Given the description of an element on the screen output the (x, y) to click on. 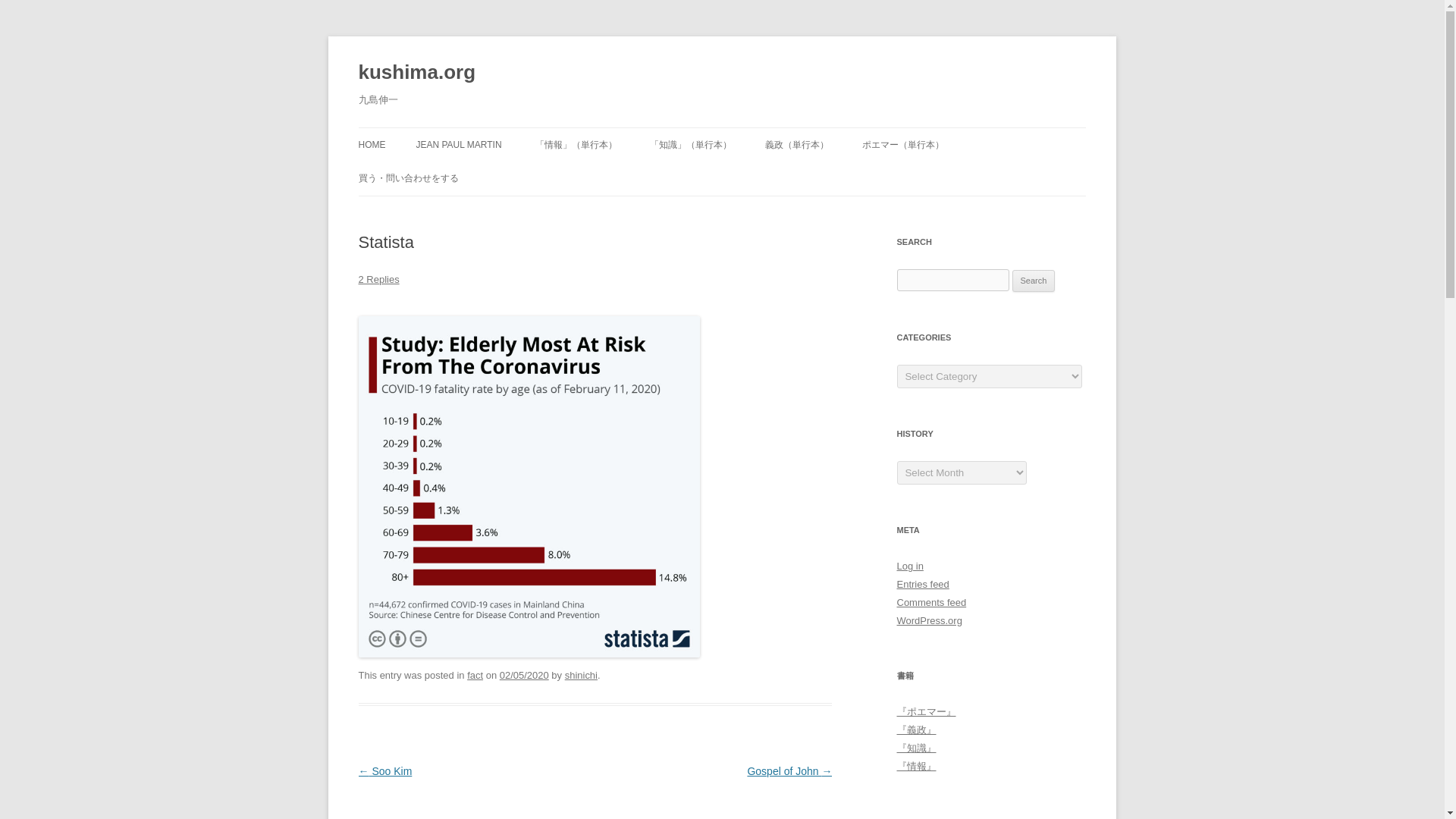
JEAN PAUL MARTIN (457, 144)
View all posts by shinichi (580, 674)
Search (1033, 281)
ADOLESCENCE (490, 176)
10:43 pm (523, 674)
kushima.org (417, 72)
